Given the description of an element on the screen output the (x, y) to click on. 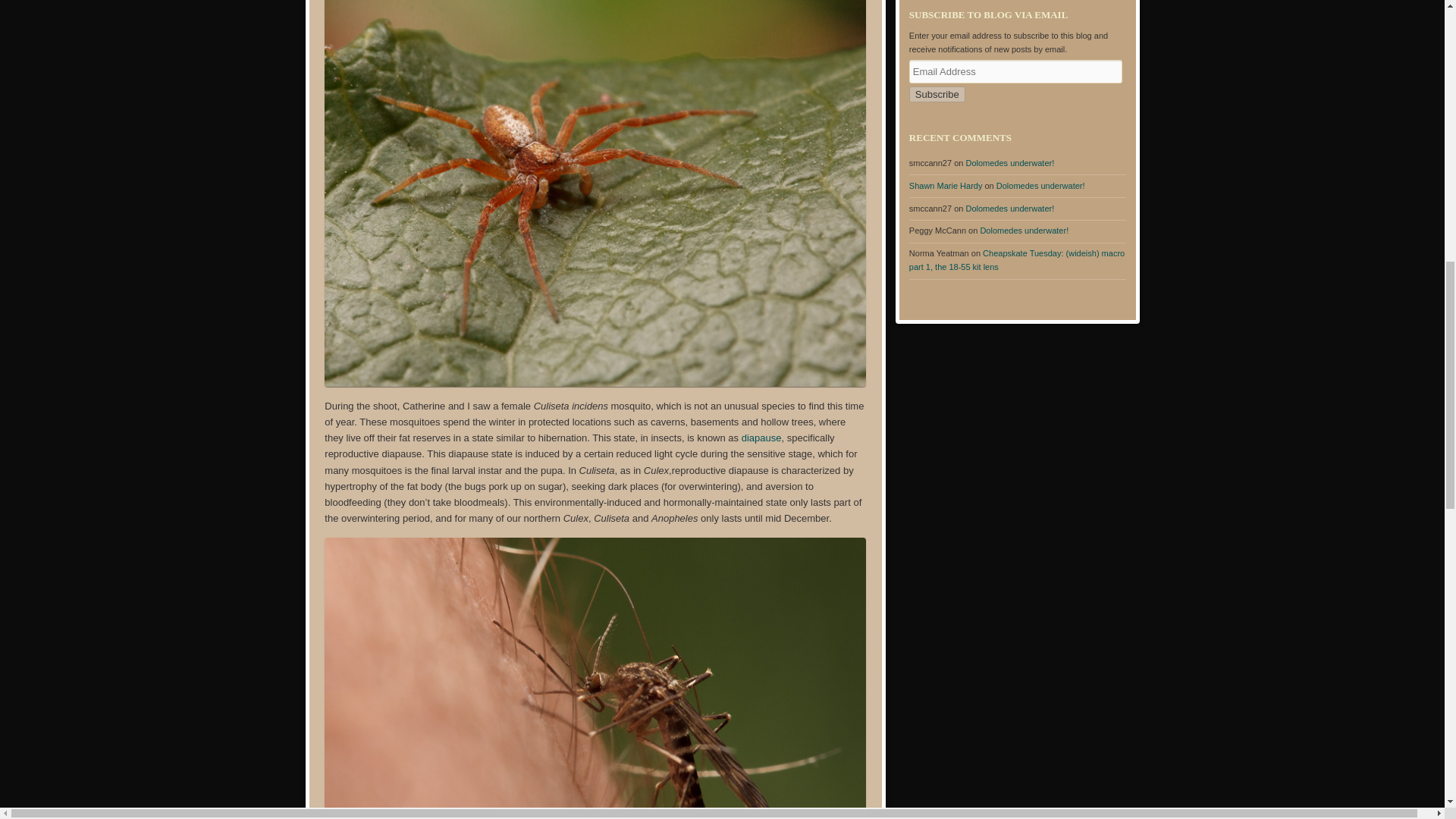
diapause (761, 437)
Subscribe (936, 94)
